Given the description of an element on the screen output the (x, y) to click on. 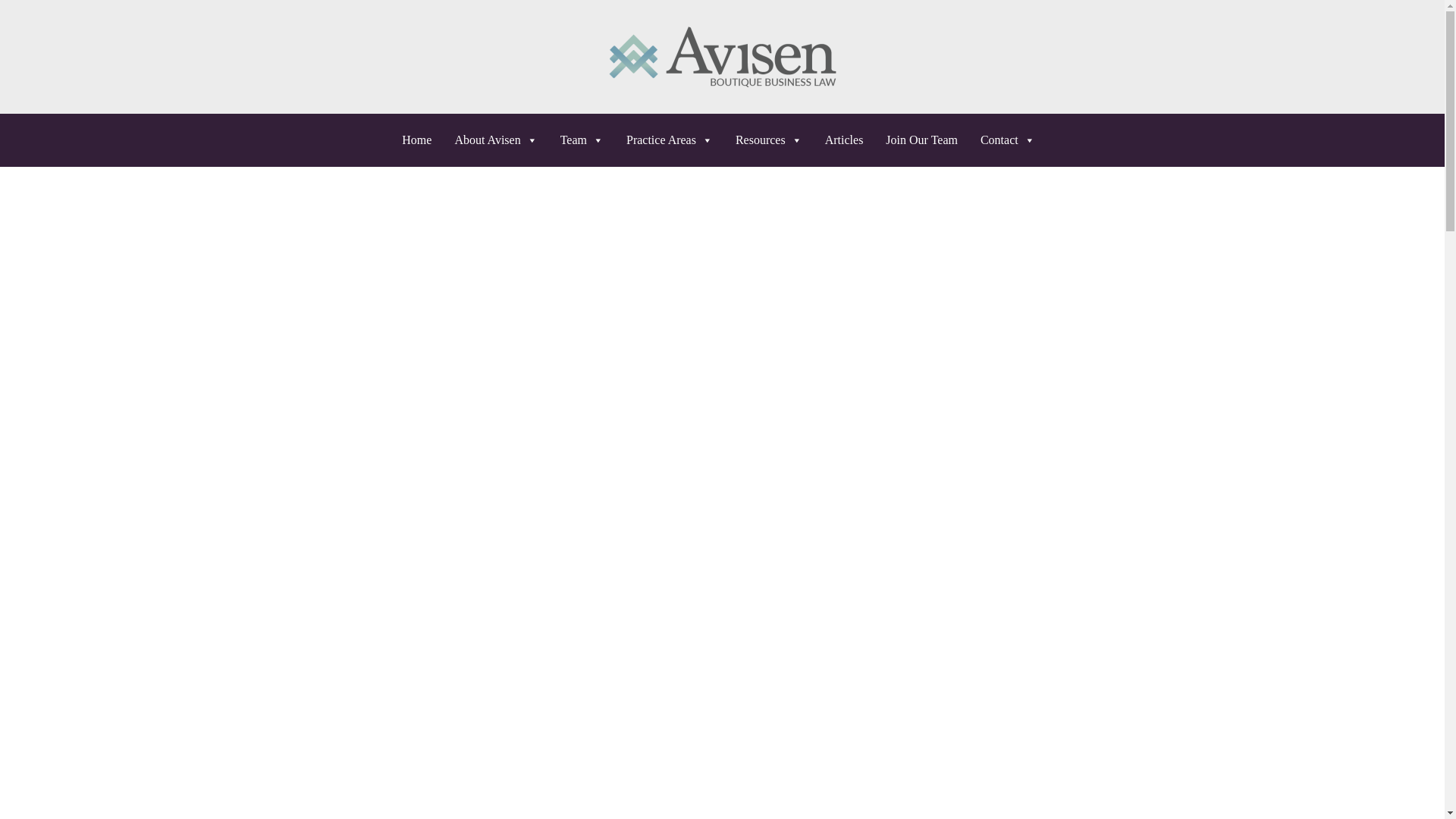
Avisen Legal (721, 56)
Home (420, 140)
Articles (847, 140)
Team (585, 140)
About Avisen (498, 140)
Resources (772, 140)
Practice Areas (673, 140)
